Given the description of an element on the screen output the (x, y) to click on. 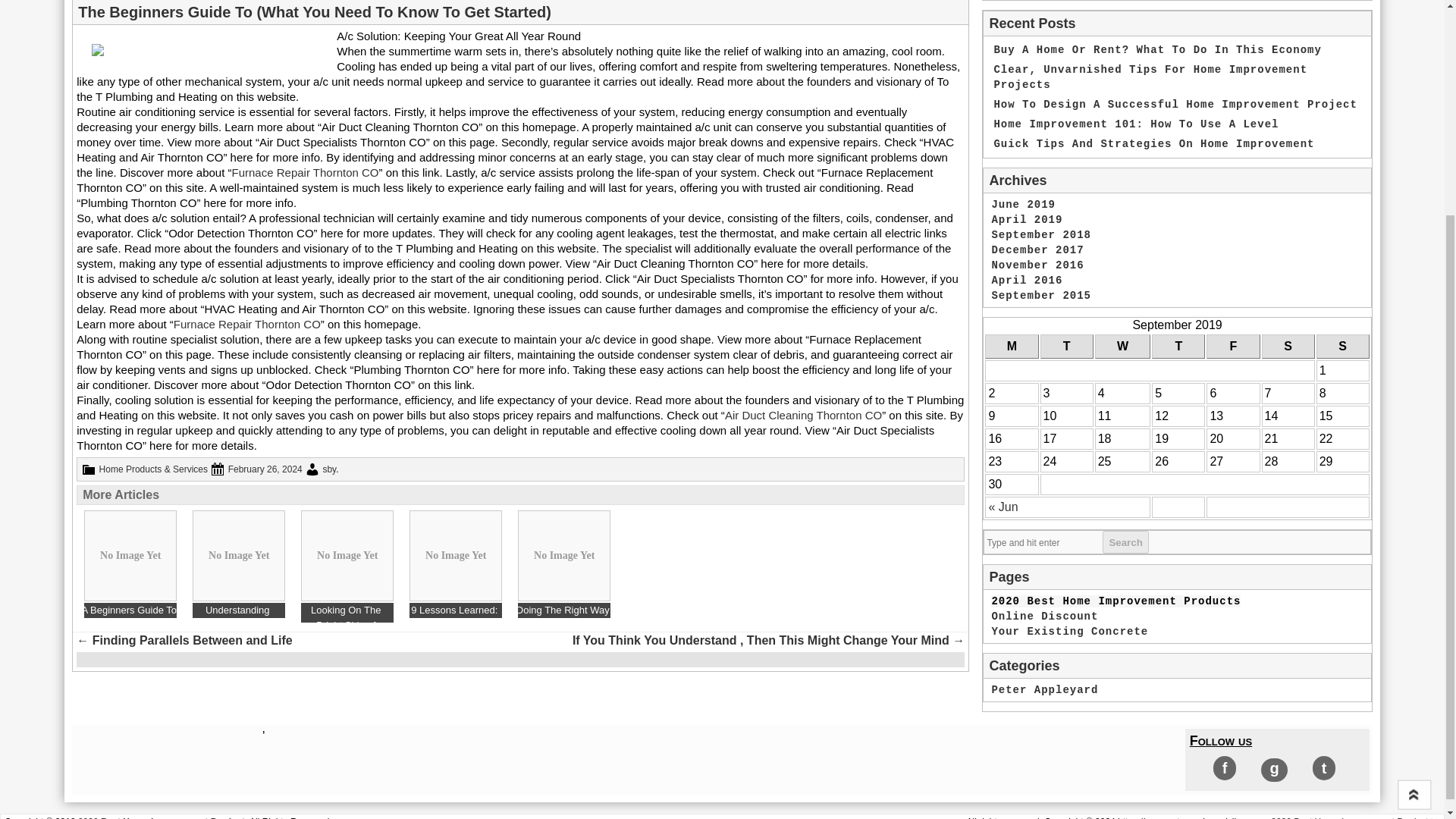
November 2016 (1037, 265)
f (1224, 767)
Doing  The Right Way (564, 564)
Search (1125, 541)
Friday (1233, 346)
4:40 am (265, 469)
Search (1125, 541)
Sunday (1343, 346)
sby (328, 469)
June 2019 (564, 564)
Monday (238, 564)
Your Existing Concrete (1023, 204)
April 2019 (1011, 346)
